Given the description of an element on the screen output the (x, y) to click on. 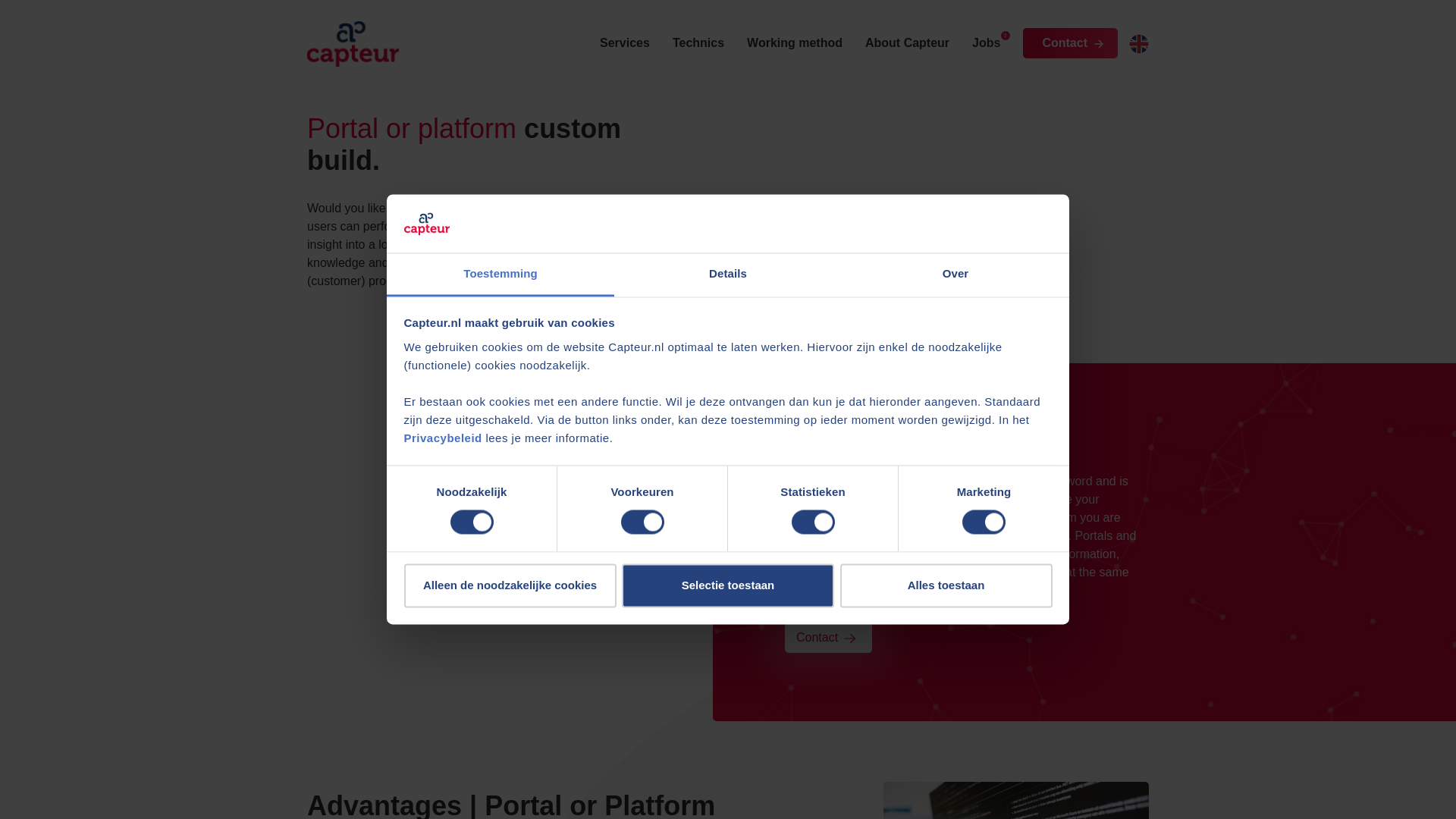
Alleen de noodzakelijke cookies (509, 585)
Over (954, 274)
Contact (828, 637)
Selectie toestaan (727, 585)
Toestemming (500, 274)
Privacybeleid (442, 437)
Details (727, 274)
Alles toestaan (946, 585)
